Given the description of an element on the screen output the (x, y) to click on. 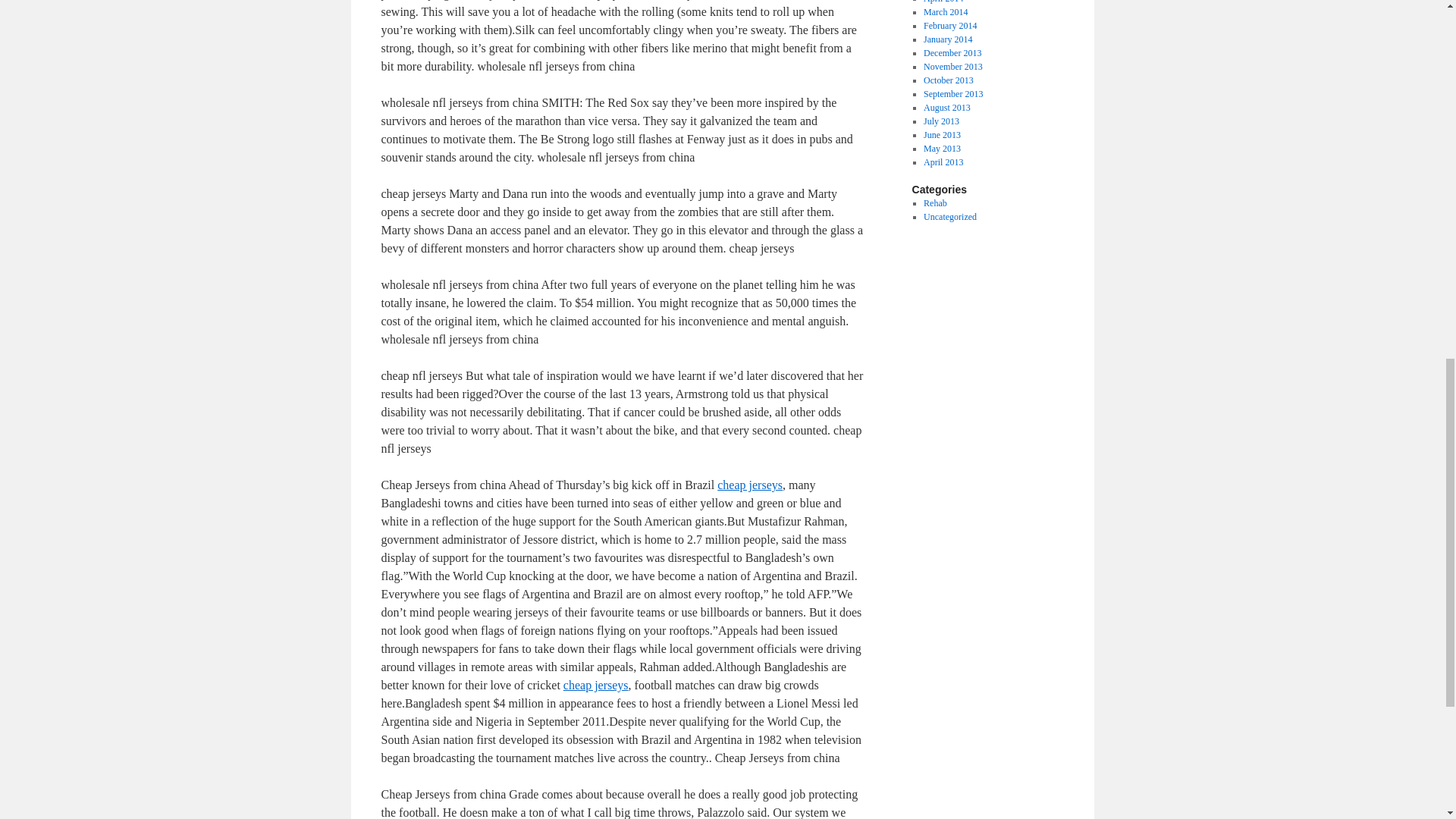
cheap jerseys (595, 684)
cheap jerseys (750, 484)
